Given the description of an element on the screen output the (x, y) to click on. 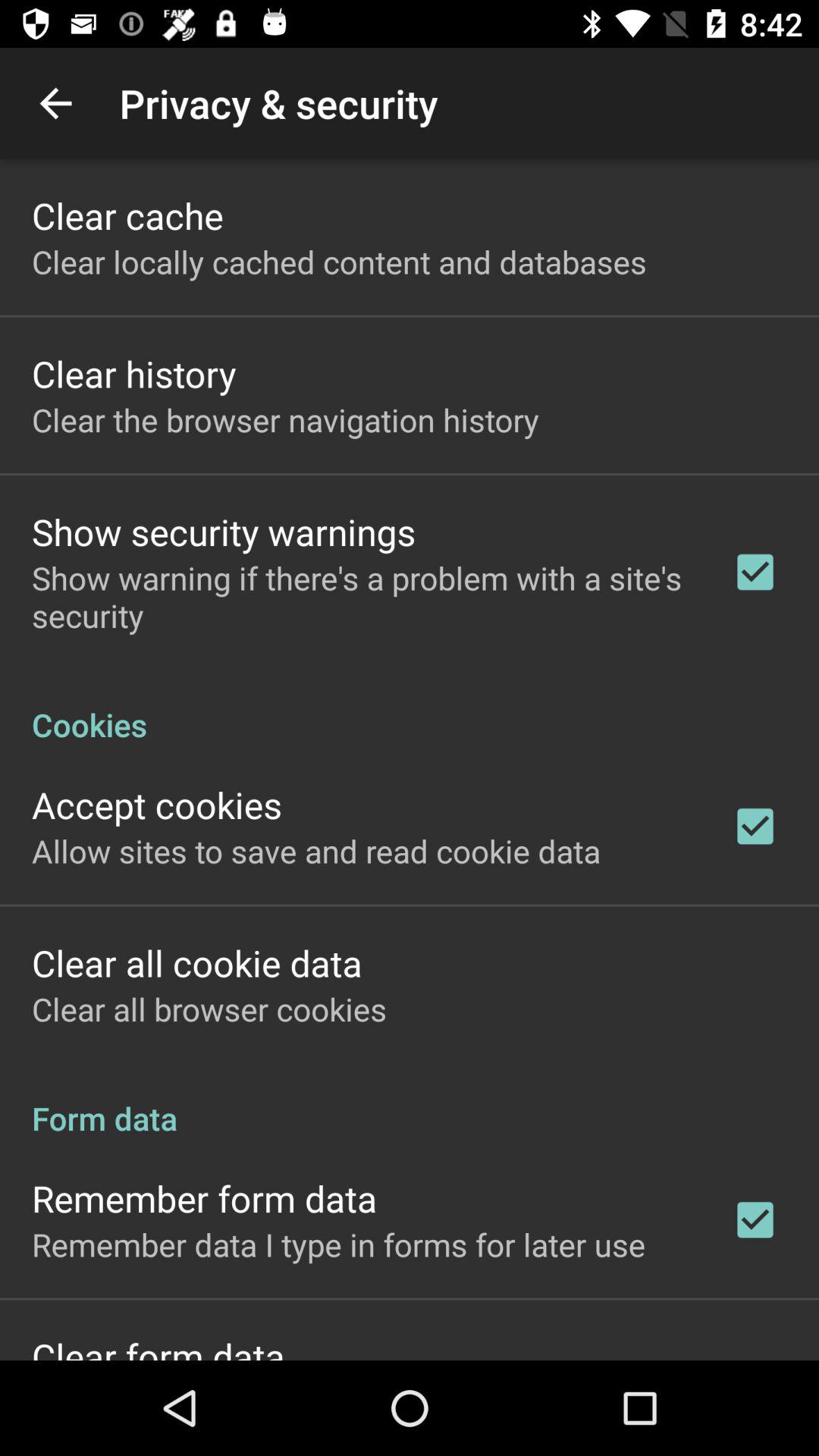
click the allow sites to item (315, 850)
